Given the description of an element on the screen output the (x, y) to click on. 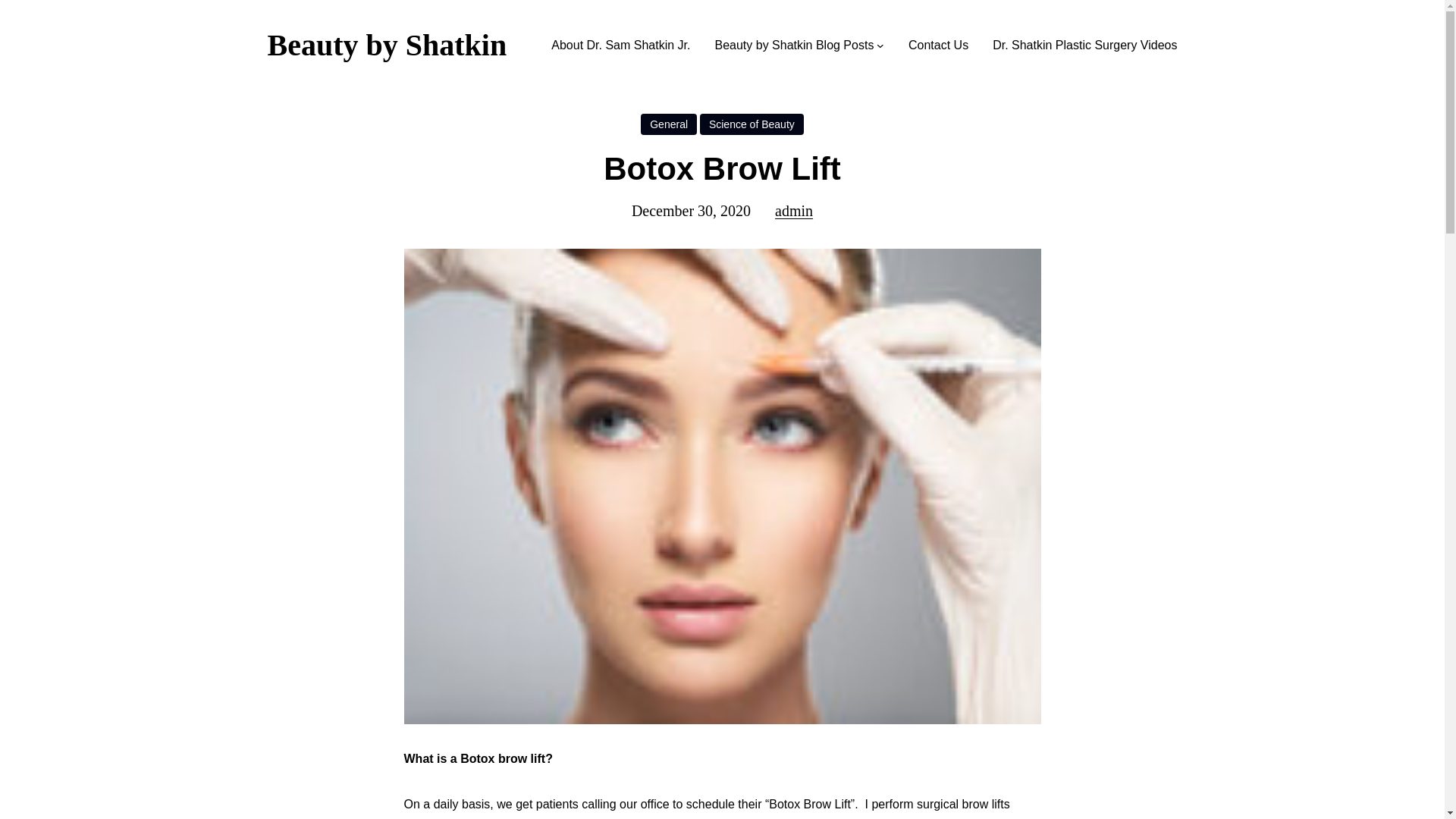
Dr. Shatkin Plastic Surgery Videos (1084, 45)
General (668, 124)
Beauty by Shatkin Blog Posts (793, 45)
admin (793, 210)
Science of Beauty (751, 124)
About Dr. Sam Shatkin Jr. (620, 45)
Beauty by Shatkin (386, 44)
Contact Us (938, 45)
